Given the description of an element on the screen output the (x, y) to click on. 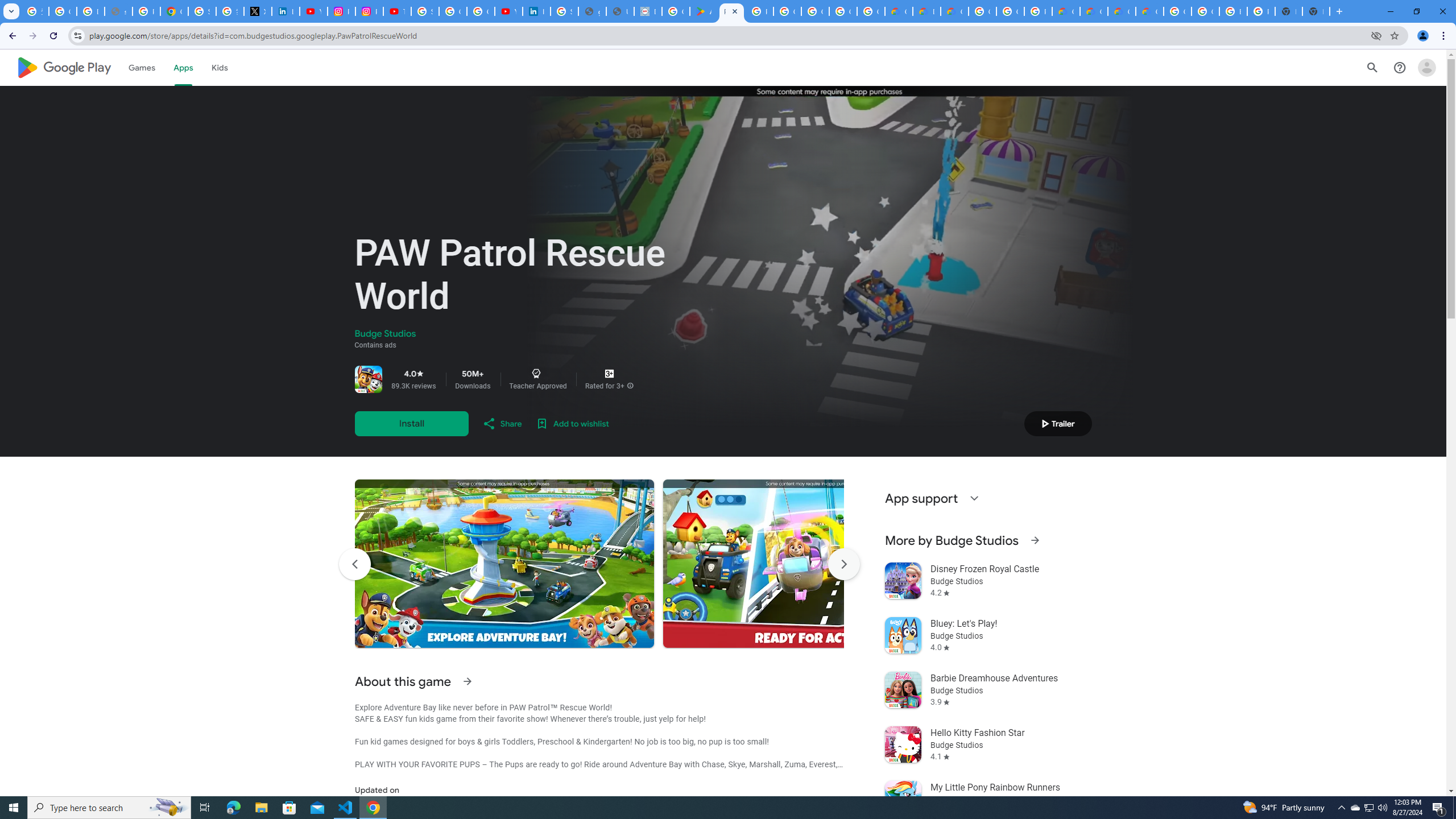
Expand (973, 497)
Google Workspace - Specific Terms (842, 11)
Customer Care | Google Cloud (1065, 11)
LinkedIn Privacy Policy (285, 11)
More info about this content rating (630, 385)
support.google.com - Network error (118, 11)
Apps (182, 67)
